Given the description of an element on the screen output the (x, y) to click on. 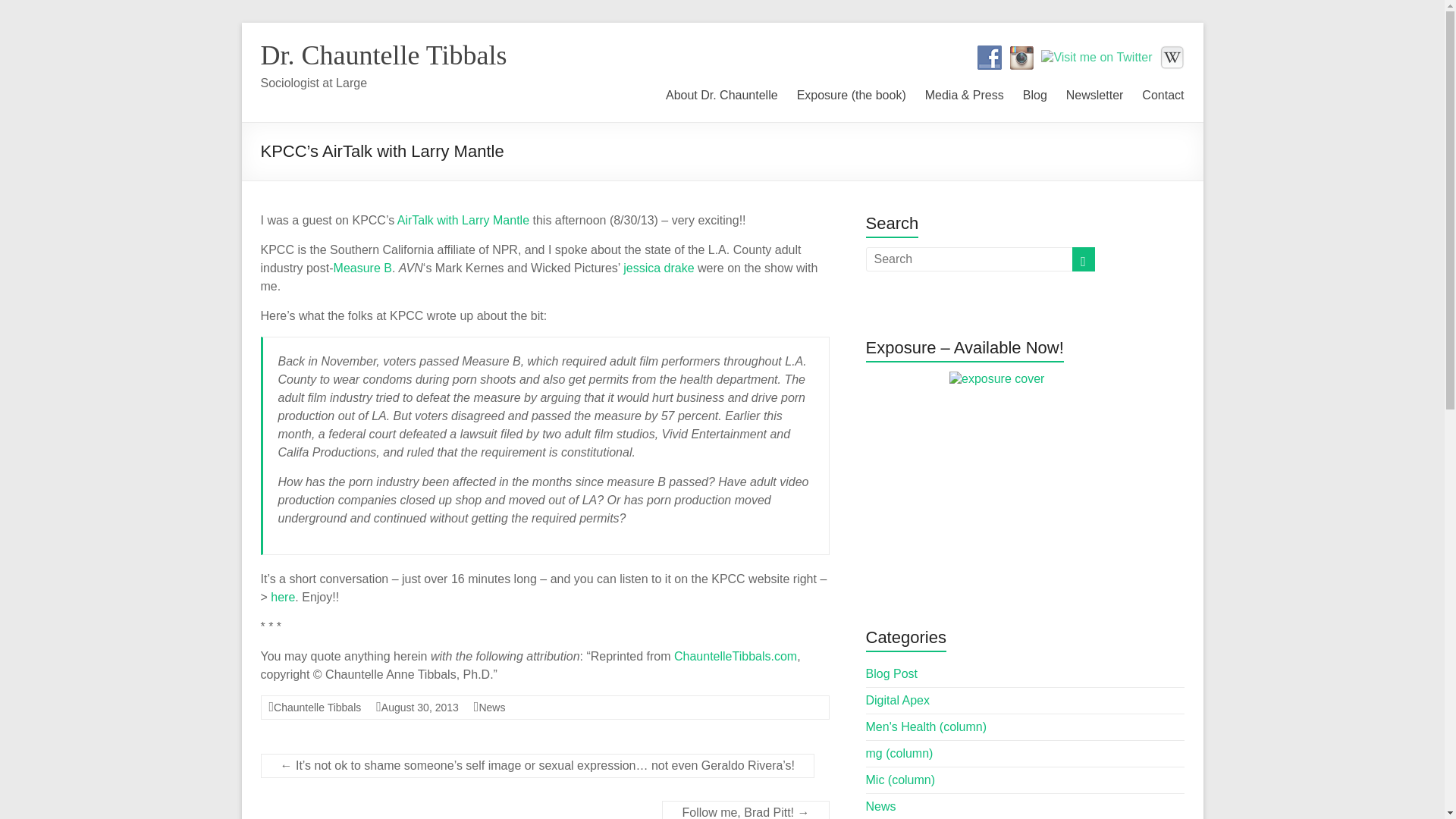
Dr. Chauntelle Tibbals (383, 55)
Measure B (362, 267)
Visit me on Instagram (1021, 57)
Newsletter (1094, 93)
Search (38, 11)
Visit me on Twitter (1096, 57)
About Dr. Chauntelle (721, 93)
Contact (1162, 93)
August 30, 2013 (419, 707)
AirTalk with Larry Mantle (463, 219)
